Given the description of an element on the screen output the (x, y) to click on. 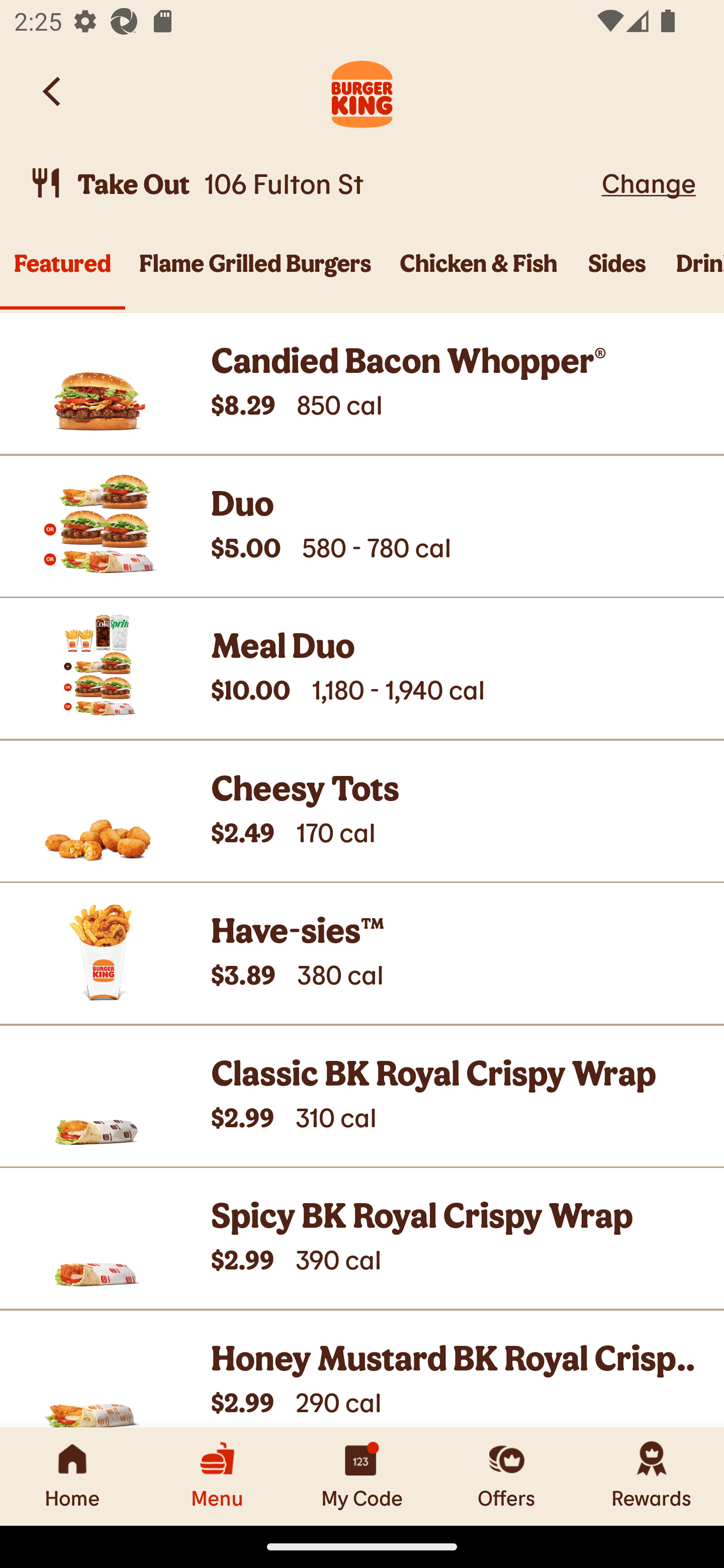
Burger King Logo. Navigate to Home (362, 91)
Back (52, 91)
Take Out, 106 Fulton St  Take Out 106 Fulton St (311, 183)
Change (648, 182)
Featured (62, 273)
Flame Grilled Burgers (255, 273)
Chicken & Fish (478, 273)
Sides (616, 273)
Drinks & Coffee (693, 273)
Home (72, 1475)
Menu (216, 1475)
My Code (361, 1475)
Offers (506, 1475)
Rewards (651, 1475)
